Given the description of an element on the screen output the (x, y) to click on. 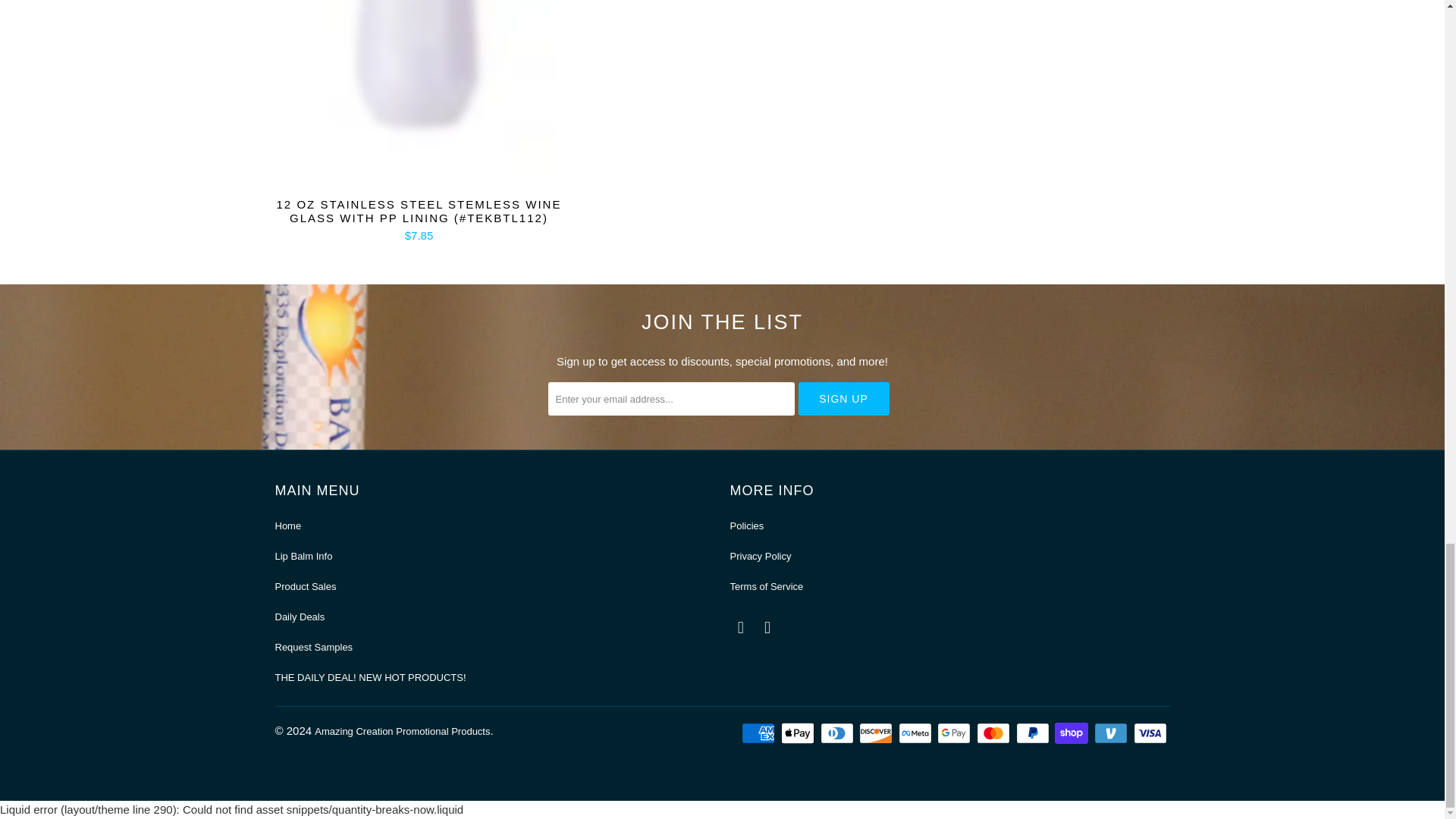
Visa (1150, 732)
Shop Pay (1072, 732)
Google Pay (955, 732)
PayPal (1034, 732)
Meta Pay (916, 732)
Mastercard (994, 732)
Sign Up (842, 398)
Discover (877, 732)
American Express (759, 732)
Diners Club (839, 732)
Amazing Creation Promotional Products on Facebook (740, 628)
Amazing Creation Promotional Products on Instagram (767, 628)
Venmo (1112, 732)
Apple Pay (798, 732)
